Given the description of an element on the screen output the (x, y) to click on. 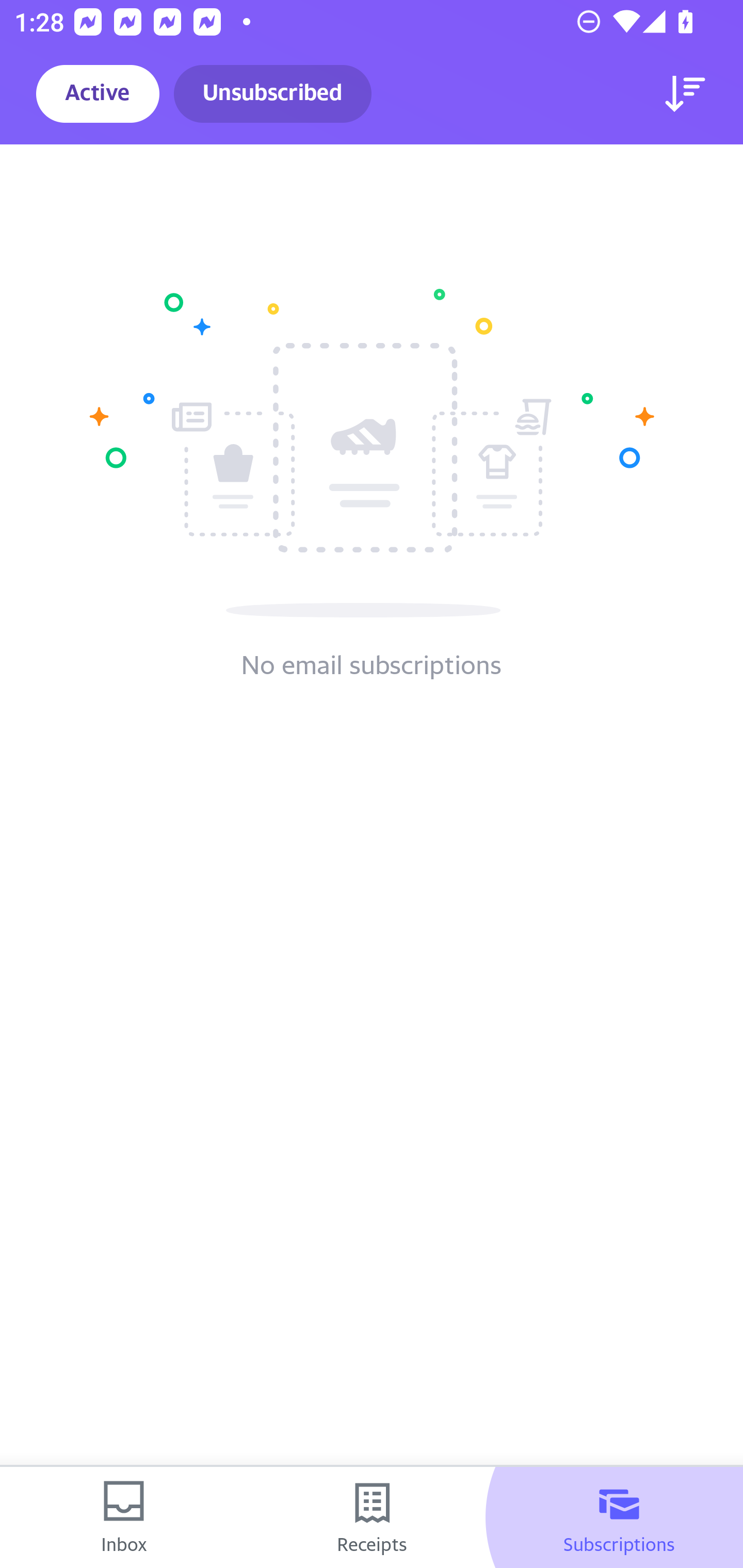
Unsubscribed (272, 93)
Sort (684, 93)
Inbox (123, 1517)
Receipts (371, 1517)
Subscriptions (619, 1517)
